Given the description of an element on the screen output the (x, y) to click on. 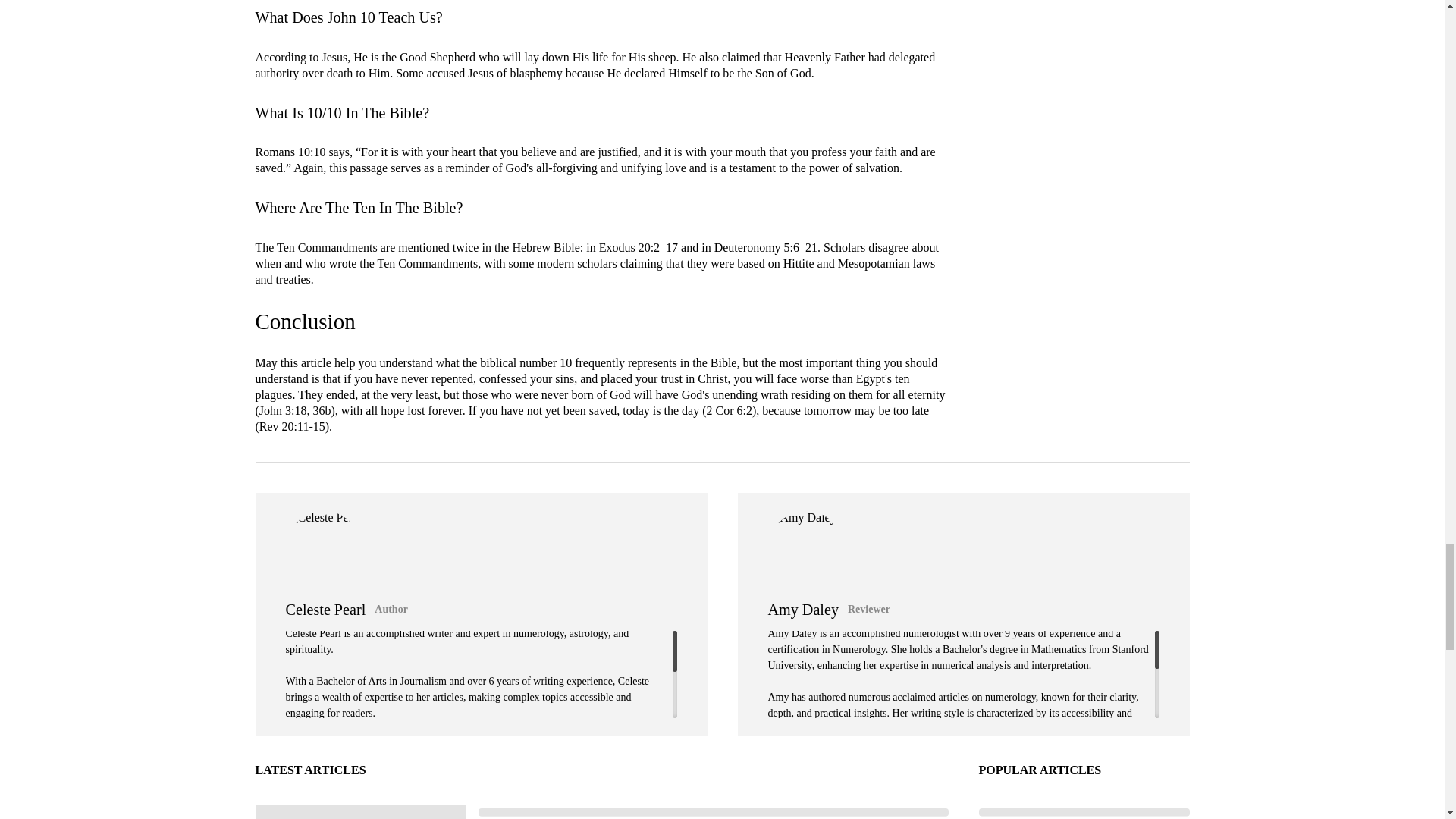
Conclusion (304, 321)
Where Are The Ten In The Bible? (358, 207)
What Does John 10 Teach Us? (348, 17)
